Given the description of an element on the screen output the (x, y) to click on. 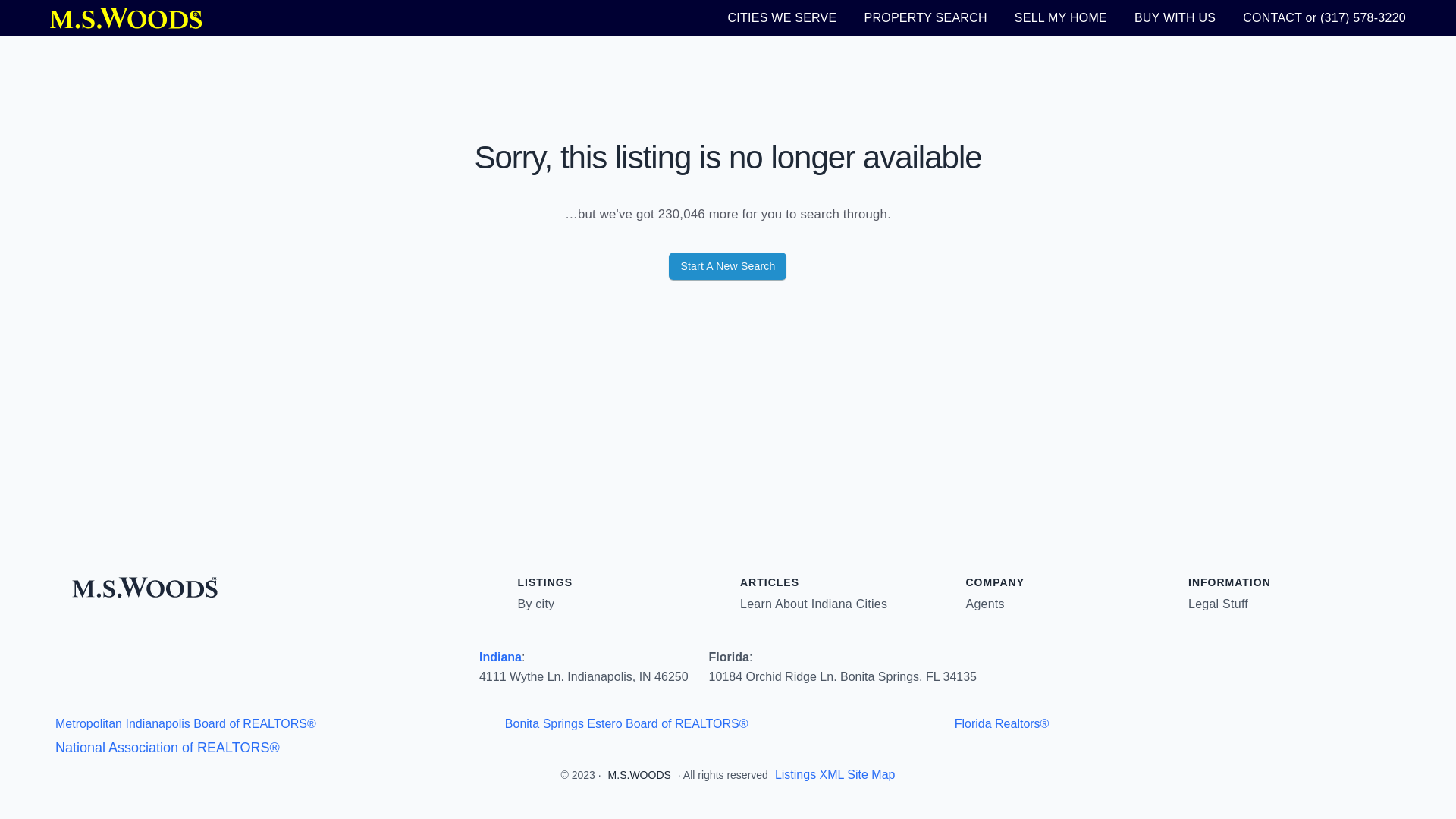
By city (535, 604)
PROPERTY SEARCH (925, 17)
Legal Stuff (1217, 604)
CITIES WE SERVE (782, 17)
Agents (985, 604)
BUY WITH US (1174, 17)
Learn About Indiana Cities (812, 604)
Start A New Search (727, 266)
SELL MY HOME (1060, 17)
M.S.WOODS (639, 775)
Listings XML Site Map (834, 774)
Indiana (500, 656)
